Given the description of an element on the screen output the (x, y) to click on. 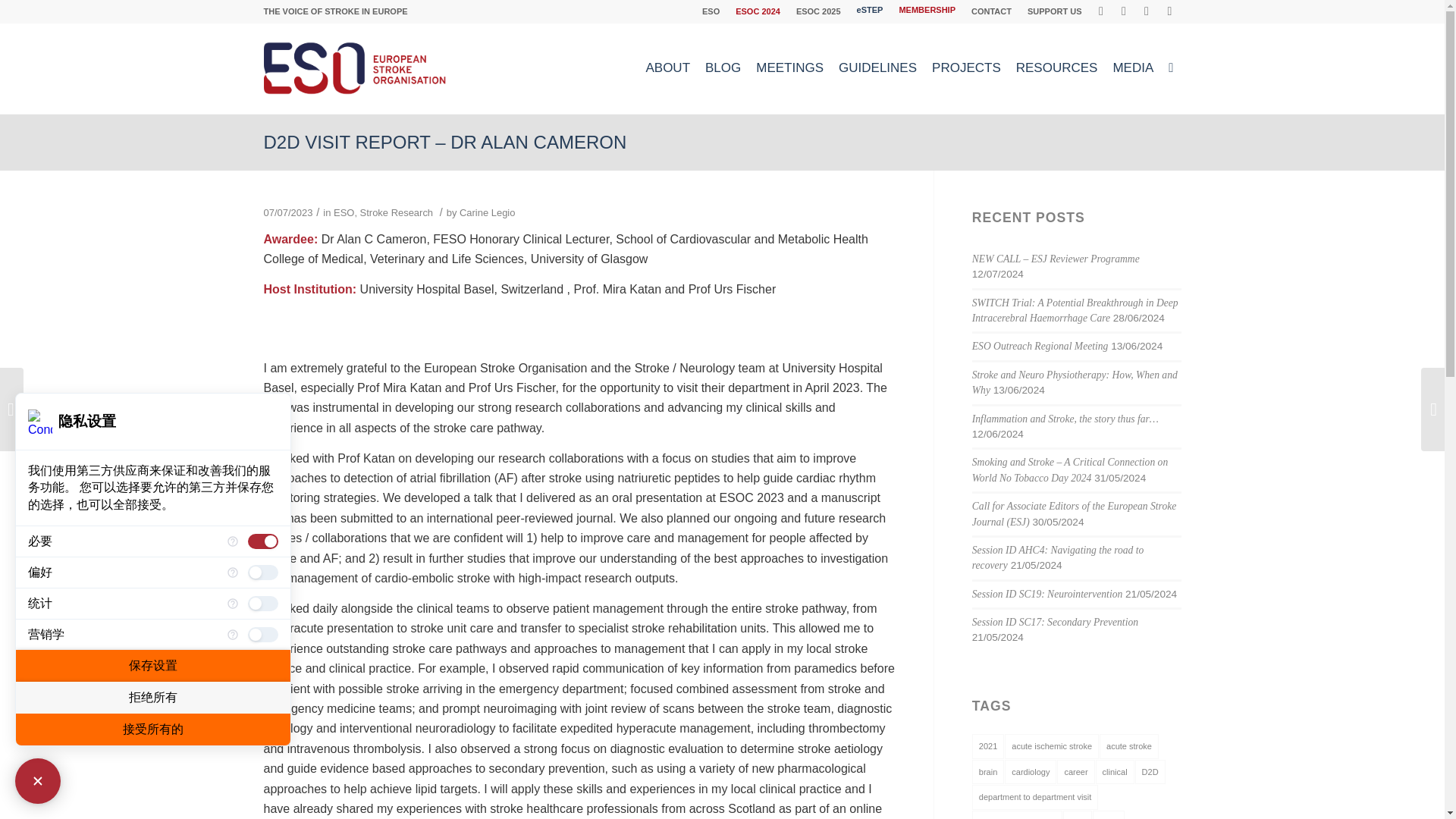
SUPPORT US (1054, 11)
MEETINGS (789, 67)
Youtube (1146, 11)
CONTACT (991, 11)
Posts by Carine Legio (487, 212)
eSTEP (870, 9)
MEMBERSHIP (926, 9)
X (1124, 11)
ESO European Stroke Organisation (356, 67)
ESOC 2025 (818, 11)
LinkedIn (1169, 11)
Facebook (1101, 11)
ESOC 2024 (757, 11)
